Given the description of an element on the screen output the (x, y) to click on. 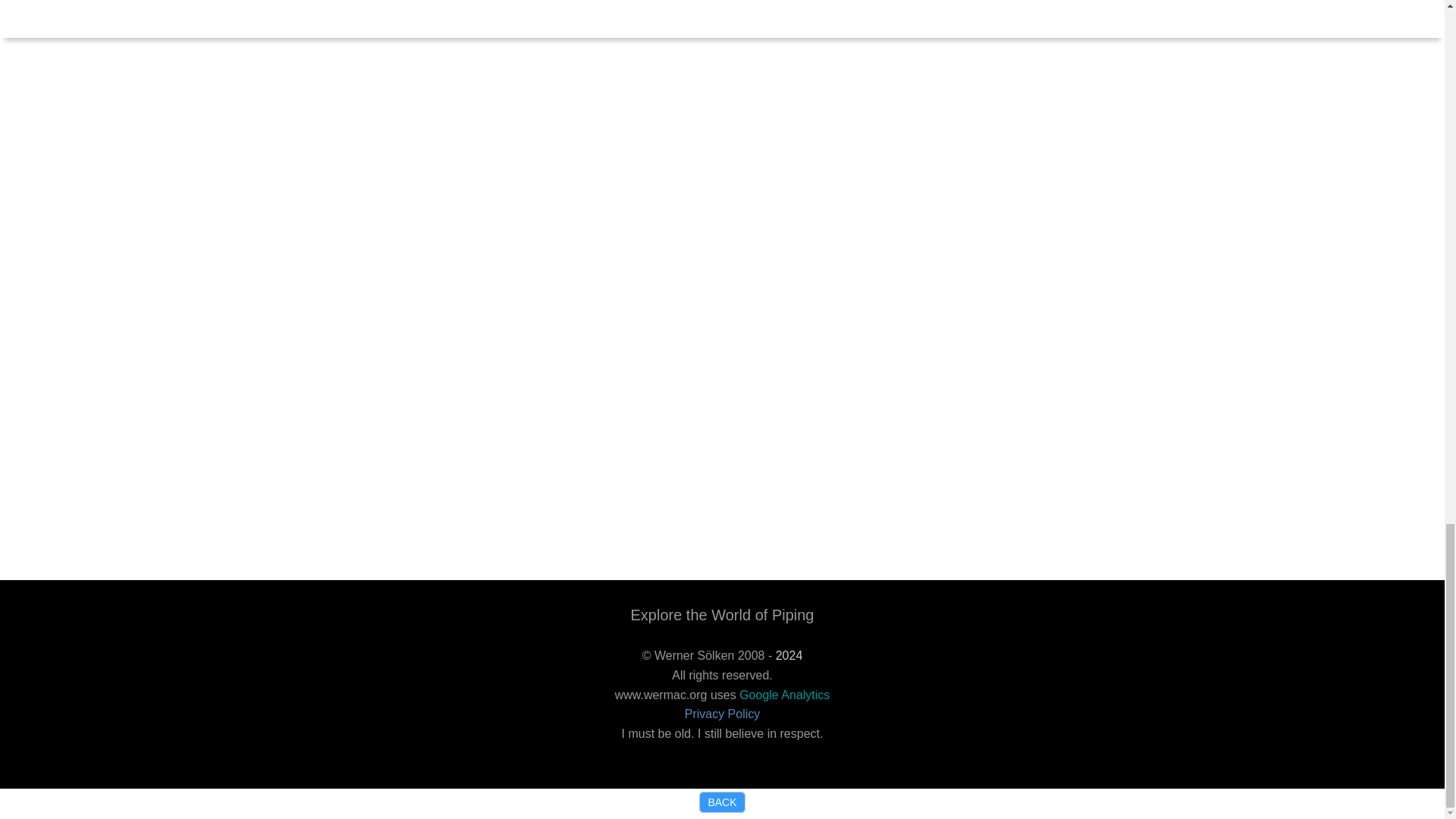
Privacy Policy wermac (722, 713)
Google Analytics terms of service (784, 694)
Privacy Policy (722, 713)
Google Analytics (784, 694)
